Given the description of an element on the screen output the (x, y) to click on. 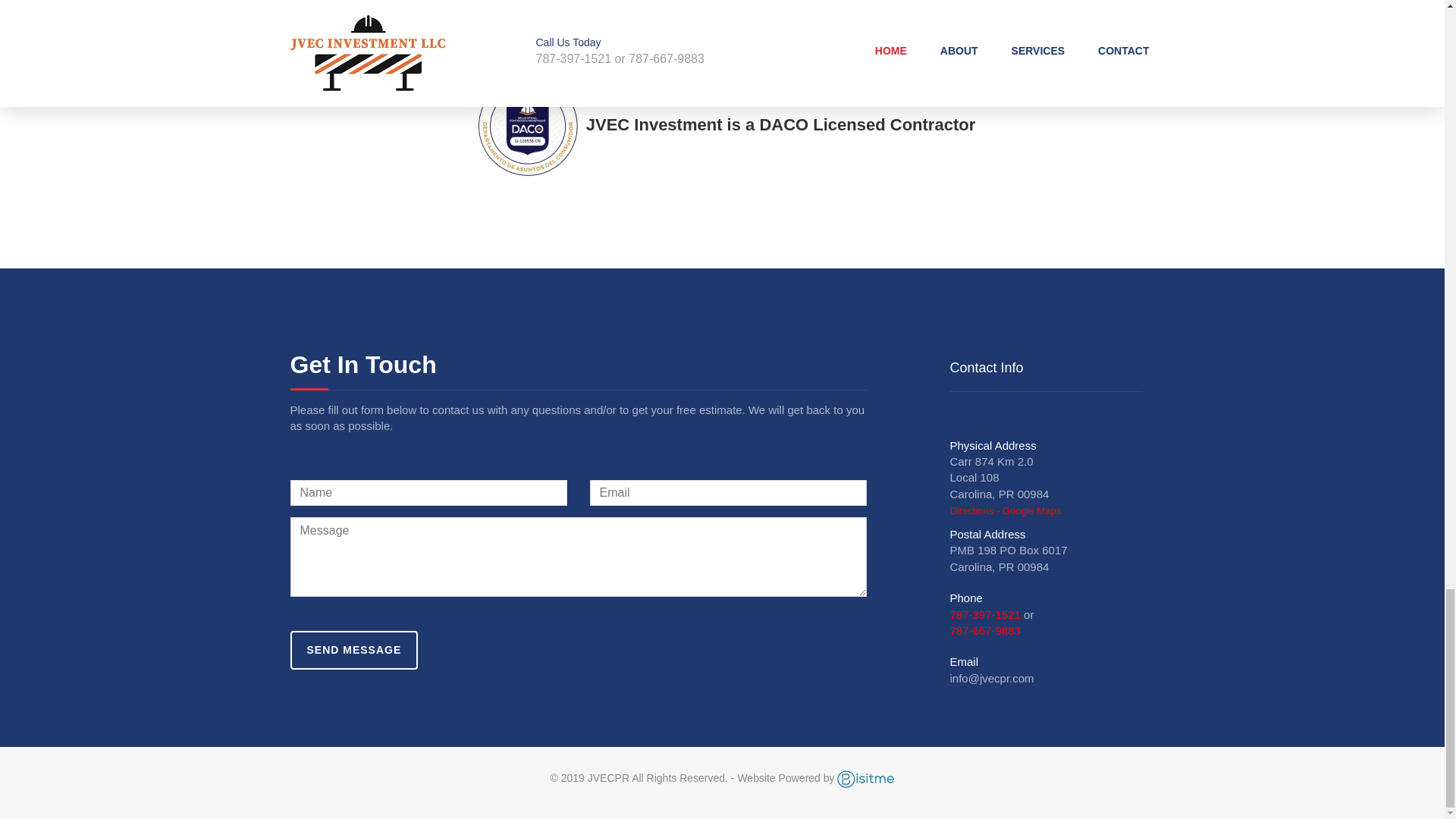
PurepoxyMaskProposalEC.pdf (975, 13)
SEND MESSAGE (353, 649)
787-397-1521 (984, 614)
PurepoxyHandSanitizer.pdf (967, 2)
Directions - Google Maps (1005, 510)
787-667-9883 (984, 630)
